Given the description of an element on the screen output the (x, y) to click on. 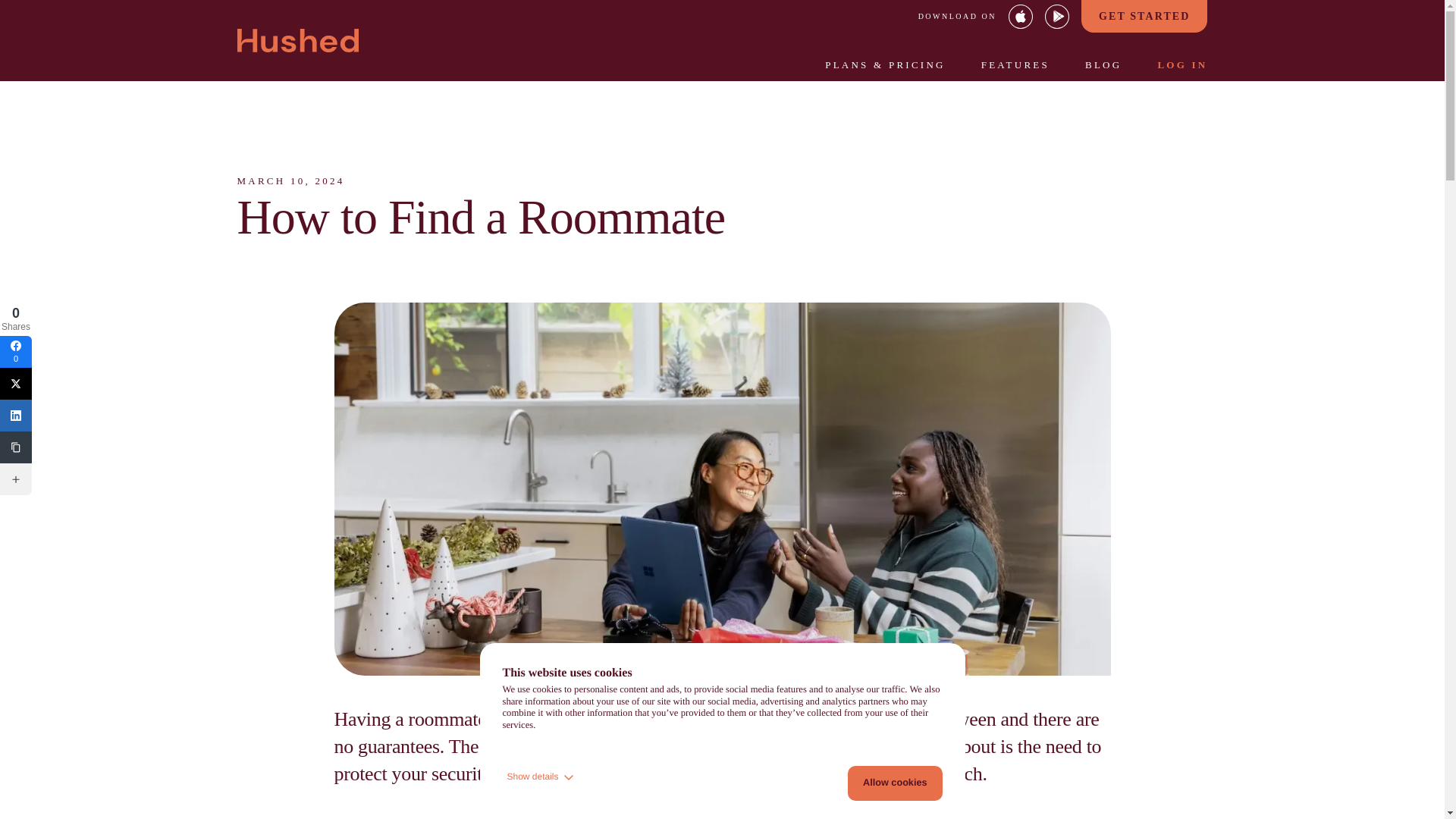
Allow cookies (894, 782)
Show details (541, 782)
